Given the description of an element on the screen output the (x, y) to click on. 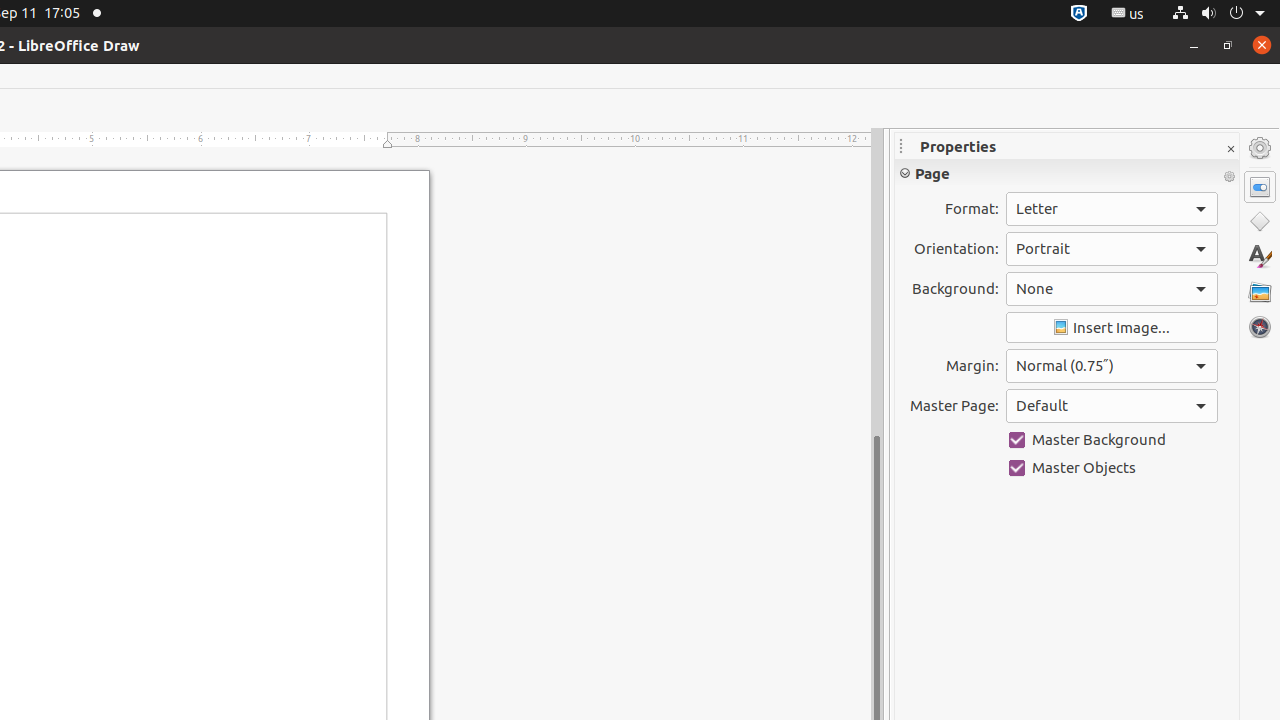
Insert Image Element type: push-button (1112, 327)
System Element type: menu (1218, 13)
Styles Element type: radio-button (1260, 256)
Close Sidebar Deck Element type: push-button (1230, 149)
Margin: Element type: combo-box (1112, 366)
